Given the description of an element on the screen output the (x, y) to click on. 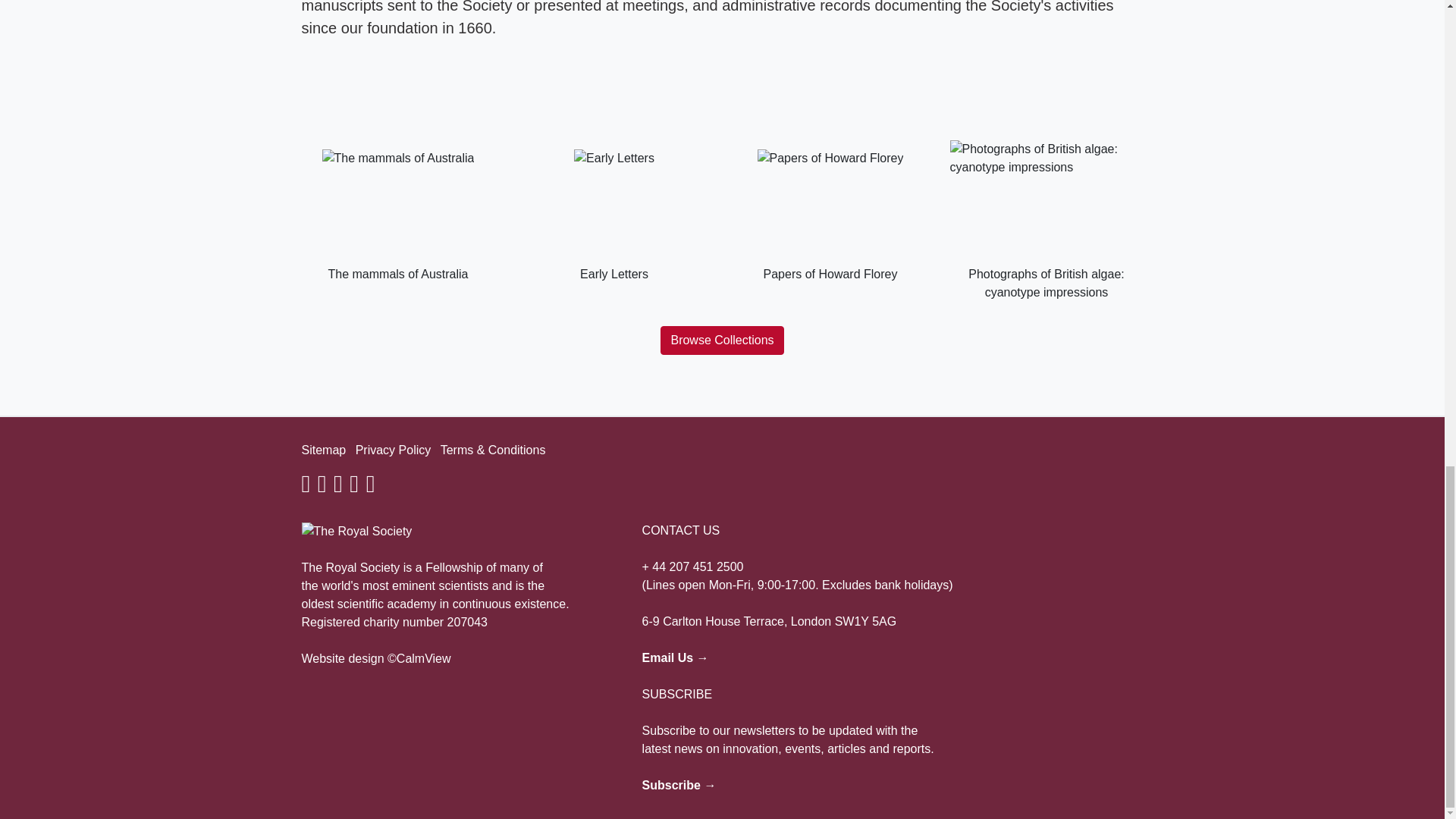
Browse Collections (722, 339)
Sitemap (323, 449)
Privacy Policy (392, 449)
